Given the description of an element on the screen output the (x, y) to click on. 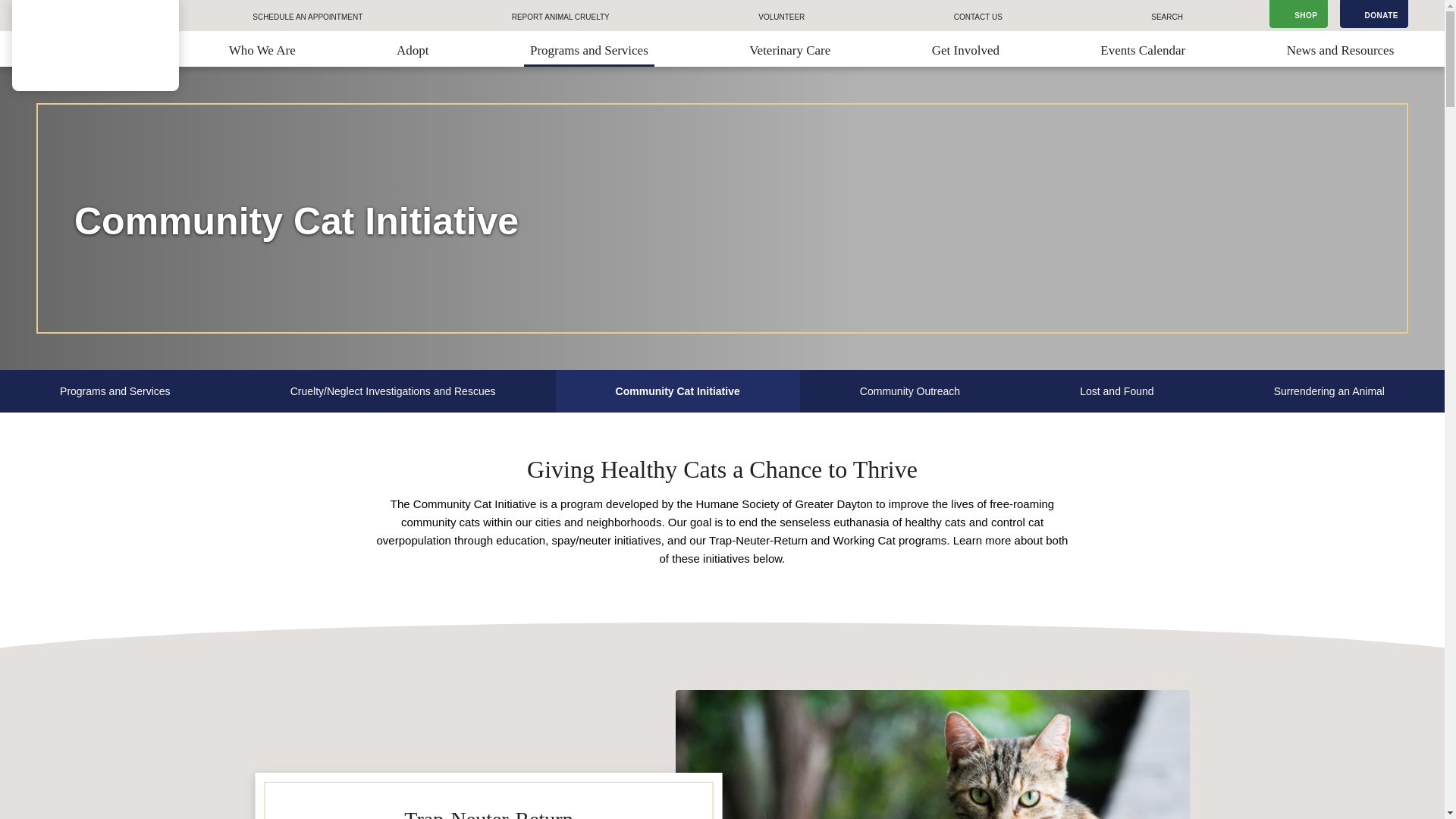
News and Resources (1340, 48)
Veterinary Care (788, 48)
Community Outreach (909, 391)
Who We Are (261, 48)
SEARCH (1167, 14)
SCHEDULE AN APPOINTMENT (306, 14)
Programs and Services (588, 48)
Humane Society of Greater Dayton (95, 45)
DONATE (1373, 13)
Community Cat Initiative (677, 391)
SHOP (1297, 13)
Adopt (412, 48)
CONTACT US (978, 14)
Lost and Found (1116, 391)
Get Involved (966, 48)
